Given the description of an element on the screen output the (x, y) to click on. 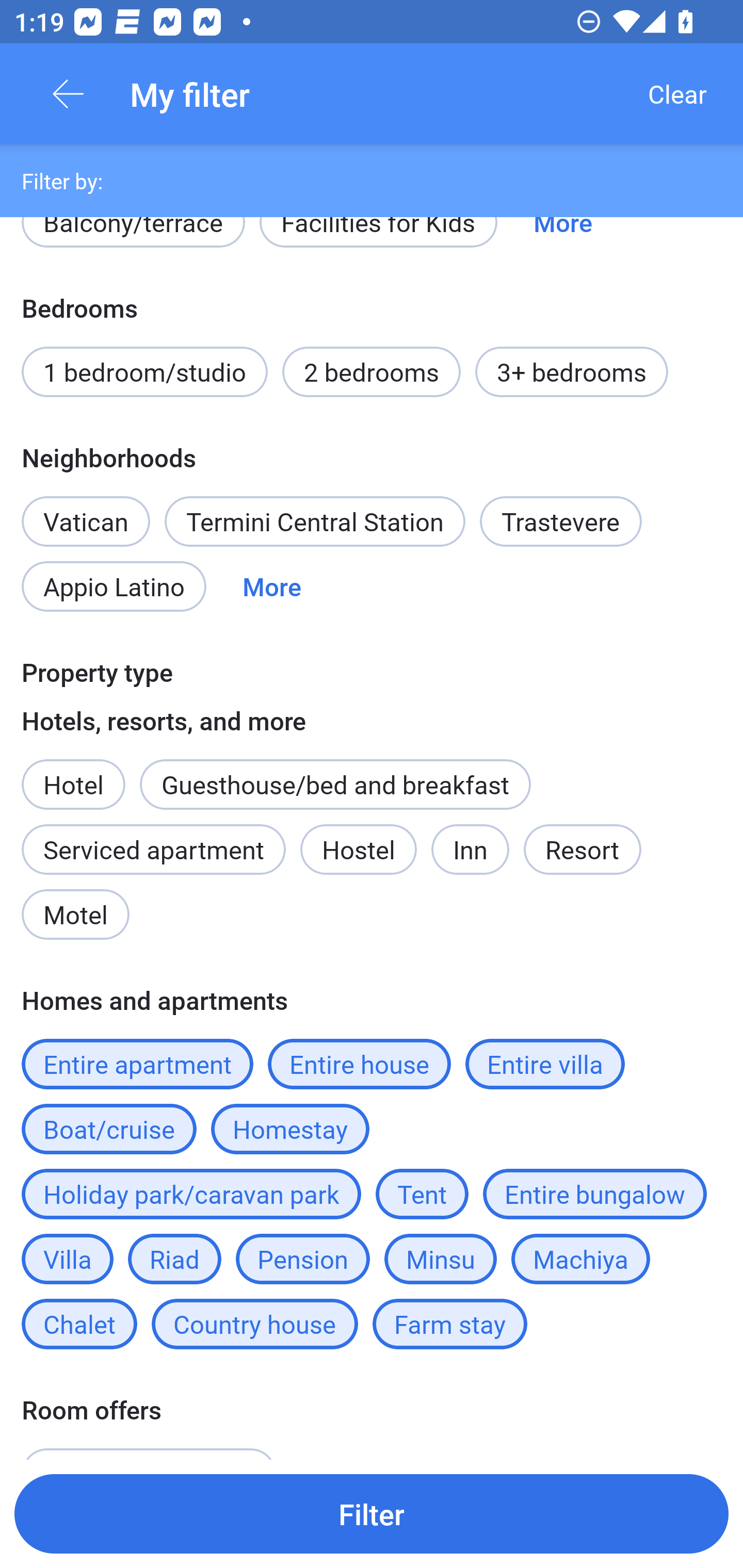
Clear (676, 93)
1 bedroom/studio (144, 372)
2 bedrooms (371, 372)
3+ bedrooms (571, 372)
Vatican (85, 510)
Termini Central Station (314, 521)
Trastevere (560, 521)
Appio Latino (113, 586)
More (271, 586)
Hotel (73, 773)
Guesthouse/bed and breakfast (335, 784)
Serviced apartment (153, 848)
Hostel (358, 848)
Inn (470, 848)
Resort (582, 848)
Motel (75, 914)
Filter (371, 1513)
